Given the description of an element on the screen output the (x, y) to click on. 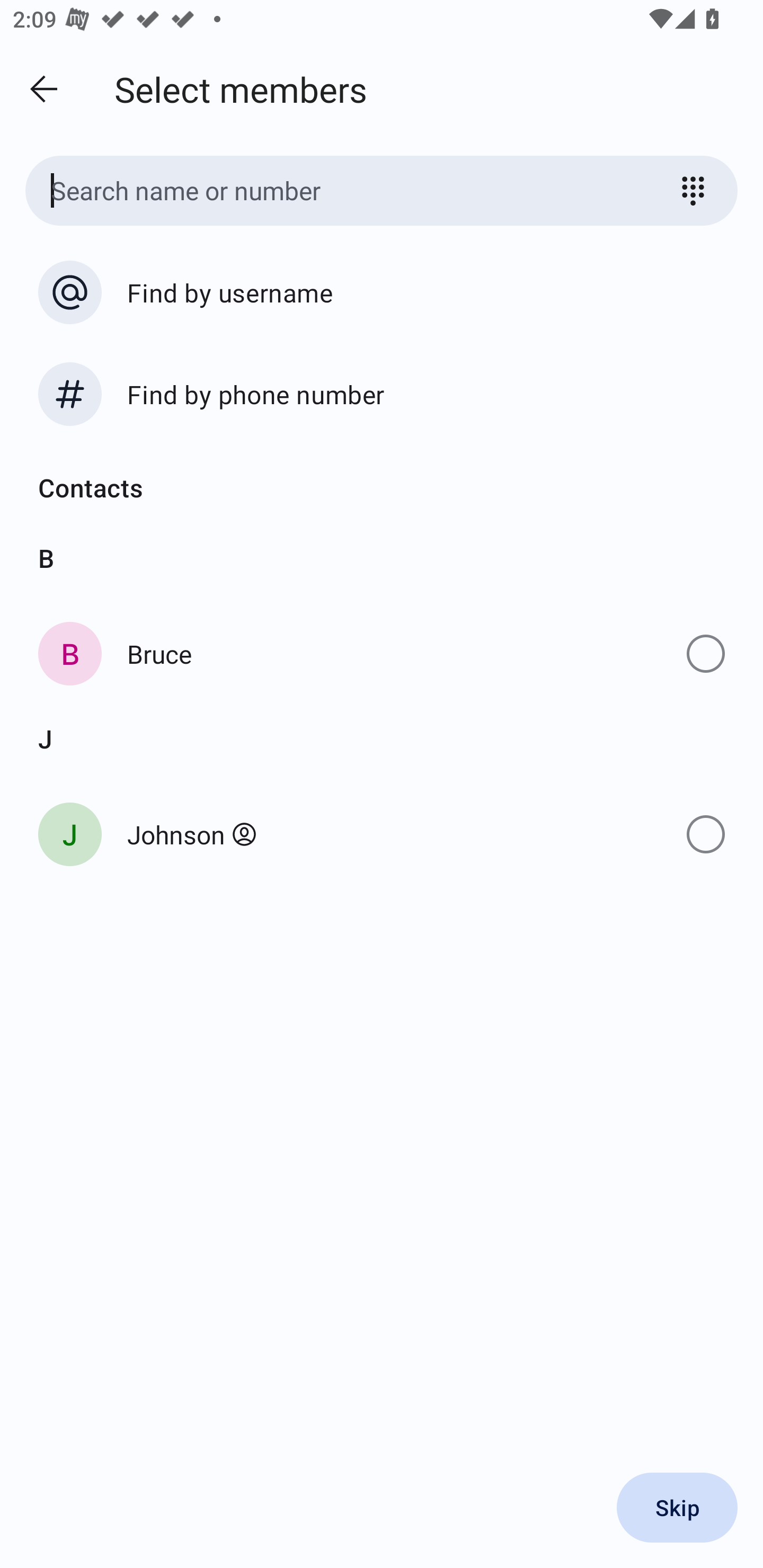
Contact Photo Badge Bruce (381, 653)
